Given the description of an element on the screen output the (x, y) to click on. 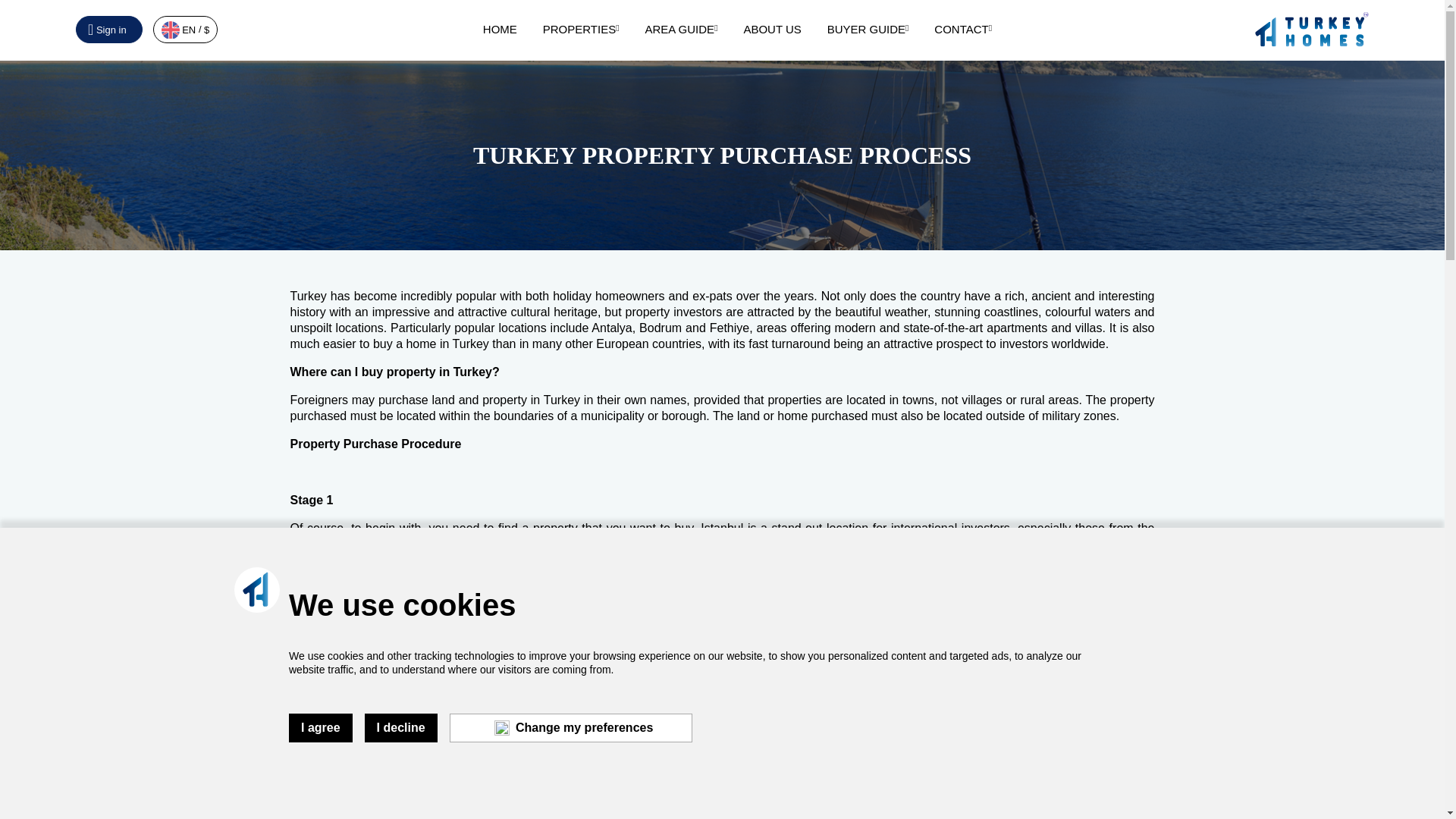
BUYER GUIDE (867, 28)
AREA GUIDE (681, 28)
PROPERTIES (581, 28)
HOME (499, 28)
ABOUT US (771, 28)
Sign in (108, 29)
